Given the description of an element on the screen output the (x, y) to click on. 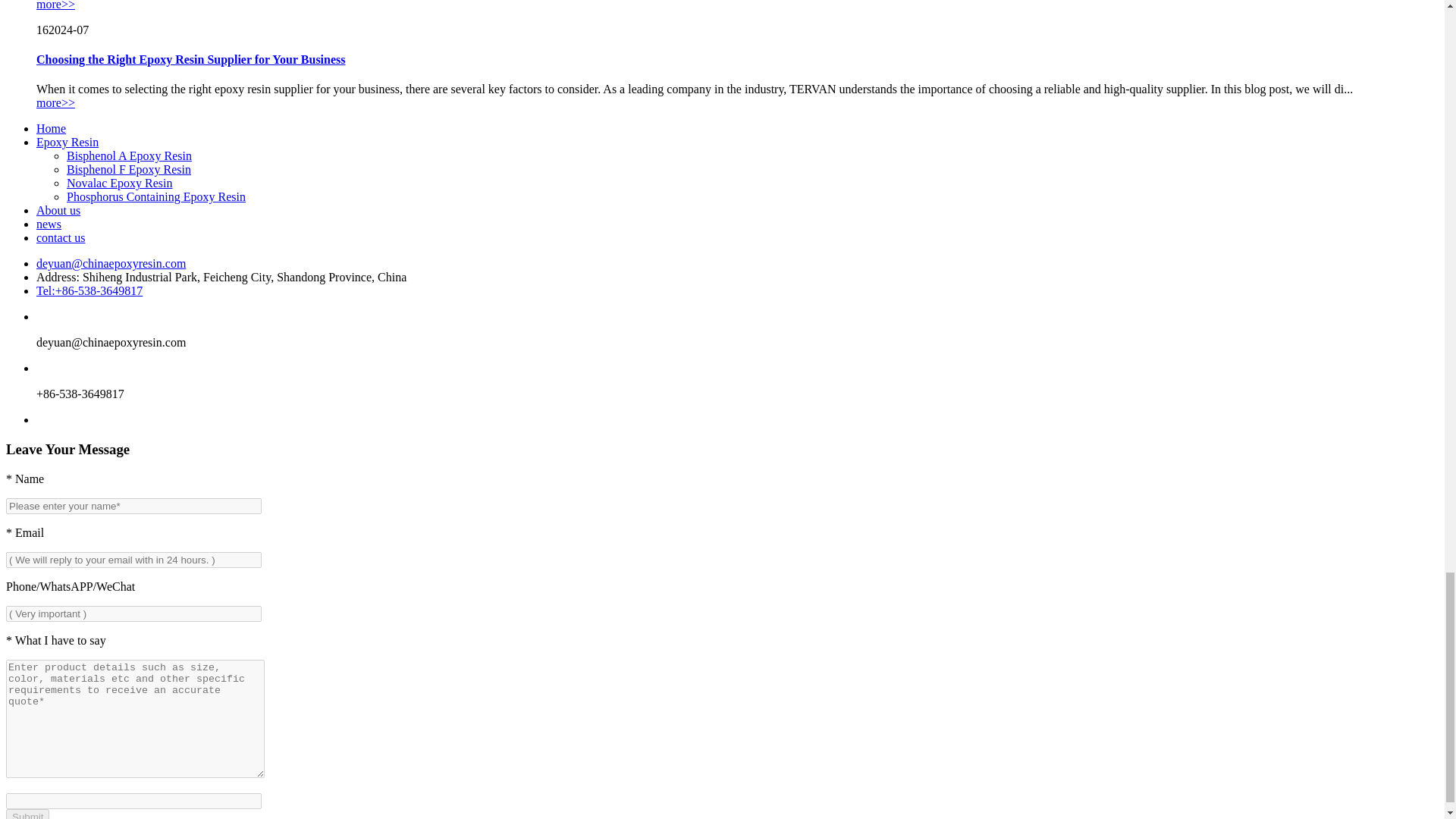
About us (58, 210)
Epoxy Resin (67, 141)
Bisphenol F Epoxy Resin (128, 169)
Bisphenol A Epoxy Resin (129, 155)
Novalac Epoxy Resin (119, 182)
Choosing the Right Epoxy Resin Supplier for Your Business (191, 59)
news (48, 223)
Phosphorus Containing Epoxy Resin (156, 196)
Home (50, 128)
